Given the description of an element on the screen output the (x, y) to click on. 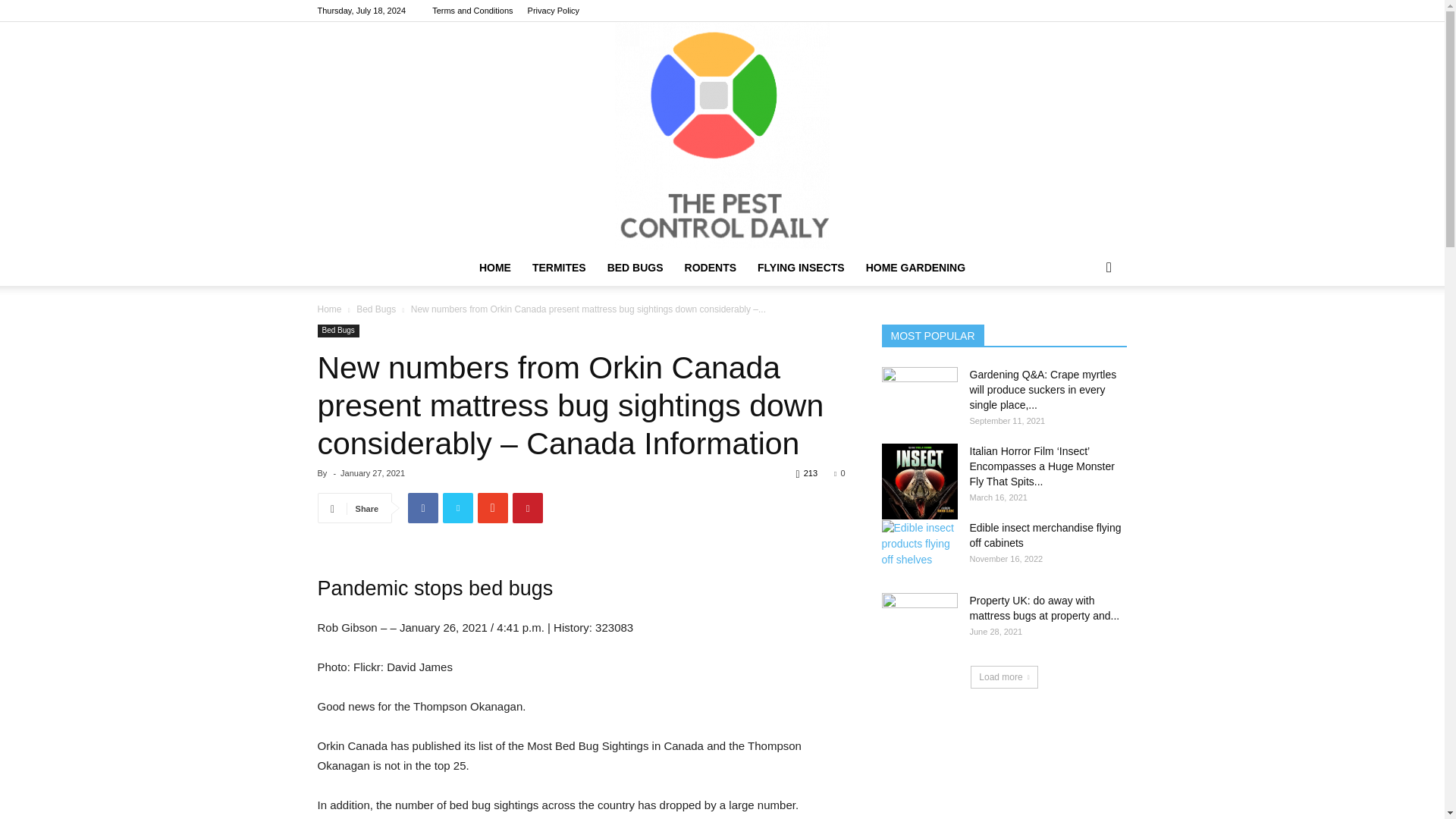
View all posts in Bed Bugs (376, 308)
HOME GARDENING (915, 267)
Privacy Policy (553, 10)
BED BUGS (635, 267)
Bed Bugs (376, 308)
FLYING INSECTS (801, 267)
Bed Bugs (337, 330)
Home (328, 308)
Search (1085, 328)
Terms and Conditions (472, 10)
0 (839, 472)
RODENTS (710, 267)
HOME (494, 267)
TERMITES (558, 267)
